Given the description of an element on the screen output the (x, y) to click on. 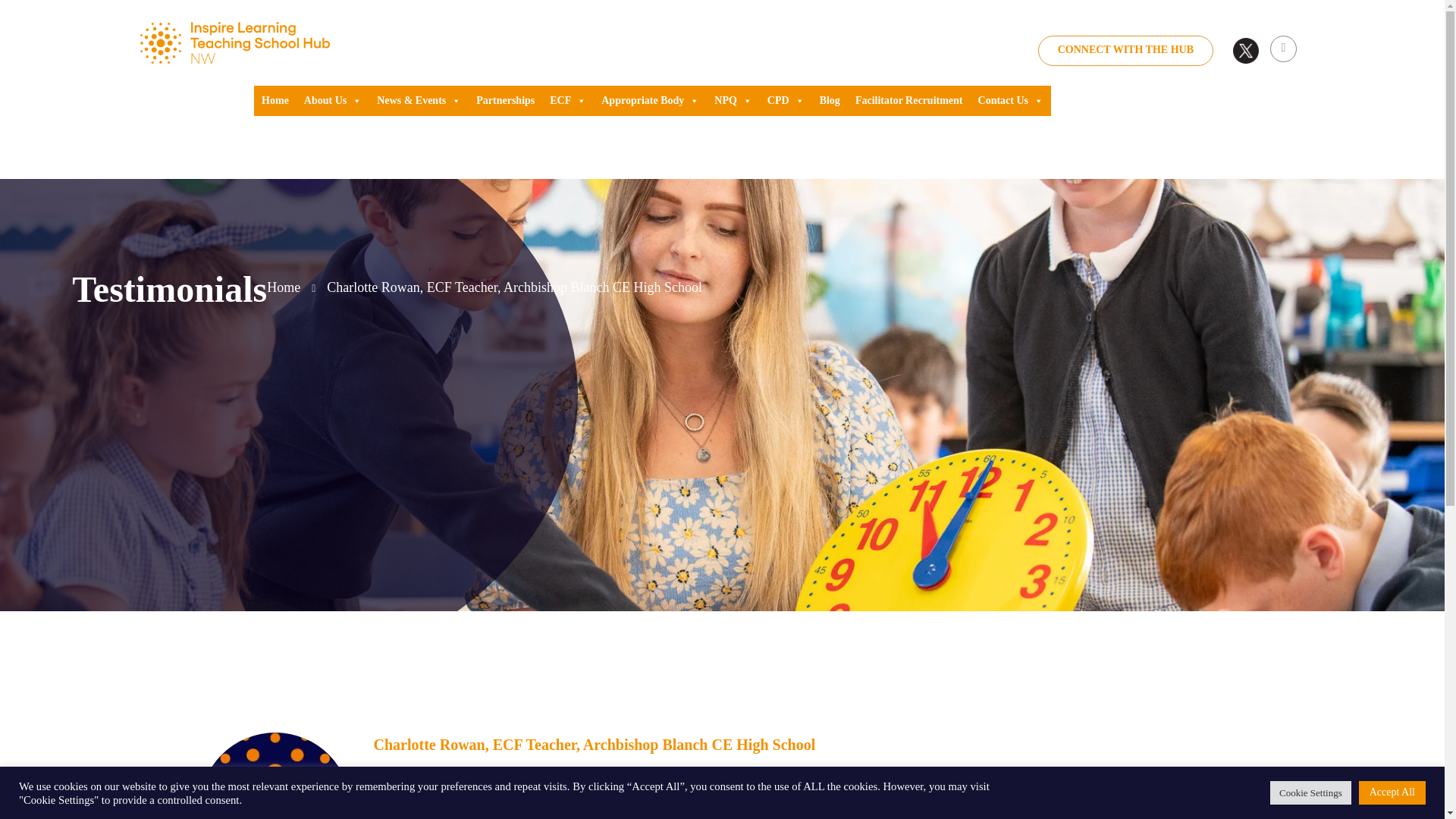
Home (290, 288)
Screenshot 2022-02-23 at 12.49.09-2 (274, 775)
